Given the description of an element on the screen output the (x, y) to click on. 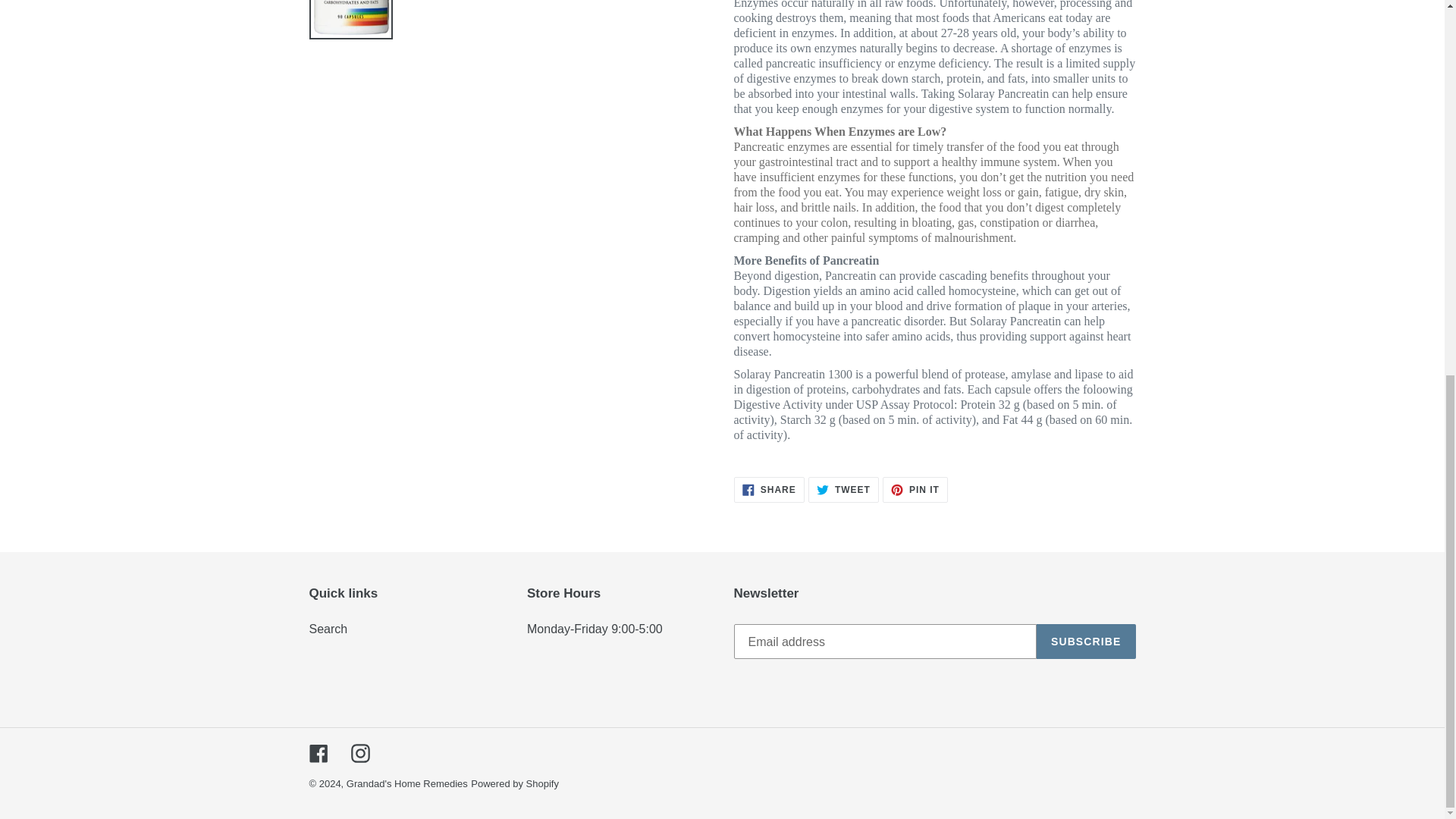
Grandad's Home Remedies (406, 783)
Search (327, 628)
Instagram (769, 489)
SUBSCRIBE (914, 489)
Powered by Shopify (843, 489)
Facebook (359, 752)
